Given the description of an element on the screen output the (x, y) to click on. 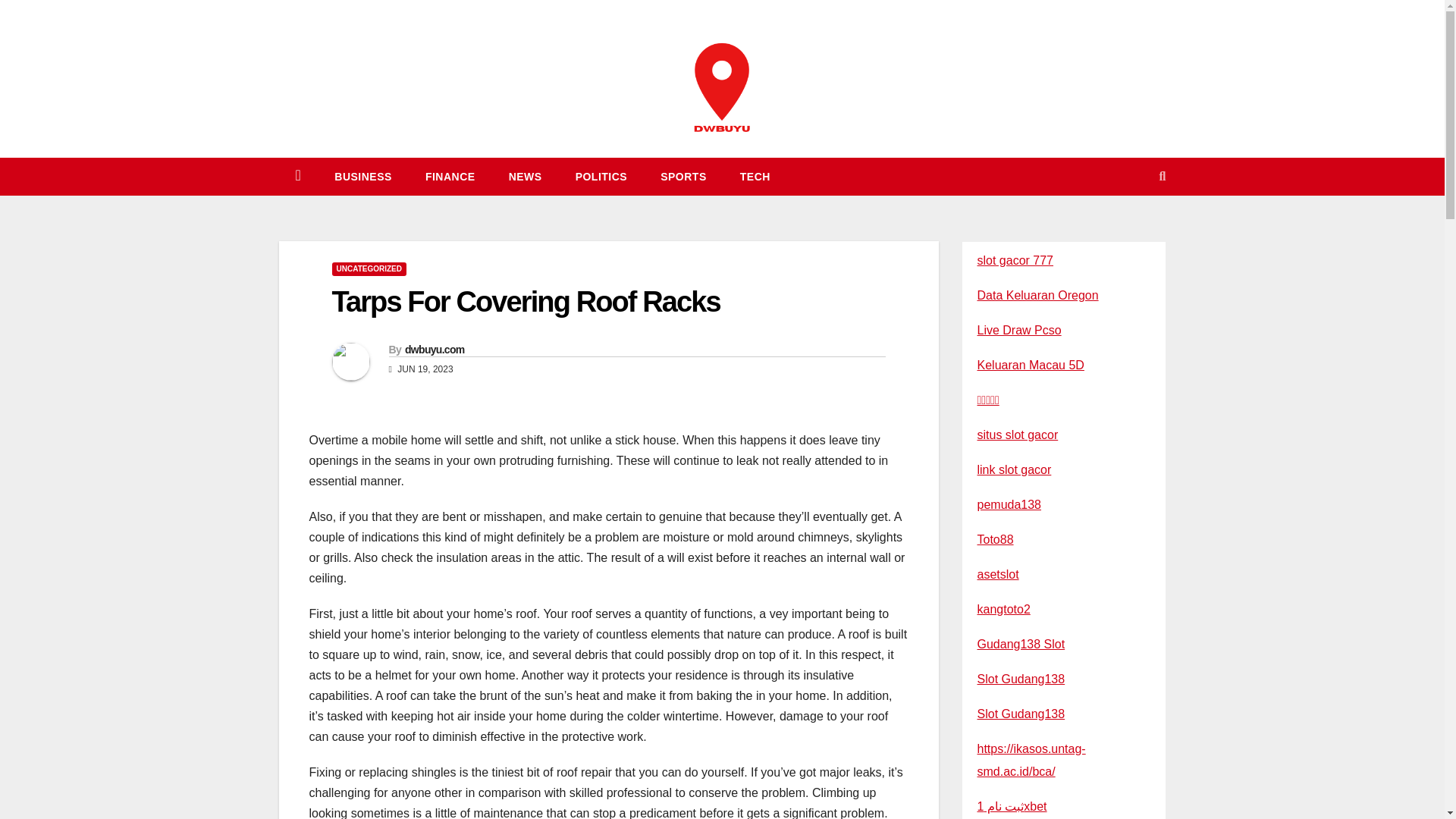
dwbuyu.com (434, 349)
Tech (755, 176)
BUSINESS (363, 176)
Politics (602, 176)
Tarps For Covering Roof Racks (525, 301)
UNCATEGORIZED (368, 269)
TECH (755, 176)
Permalink to: Tarps For Covering Roof Racks (525, 301)
NEWS (525, 176)
Finance (450, 176)
FINANCE (450, 176)
POLITICS (602, 176)
Business (363, 176)
News (525, 176)
Sports (683, 176)
